Given the description of an element on the screen output the (x, y) to click on. 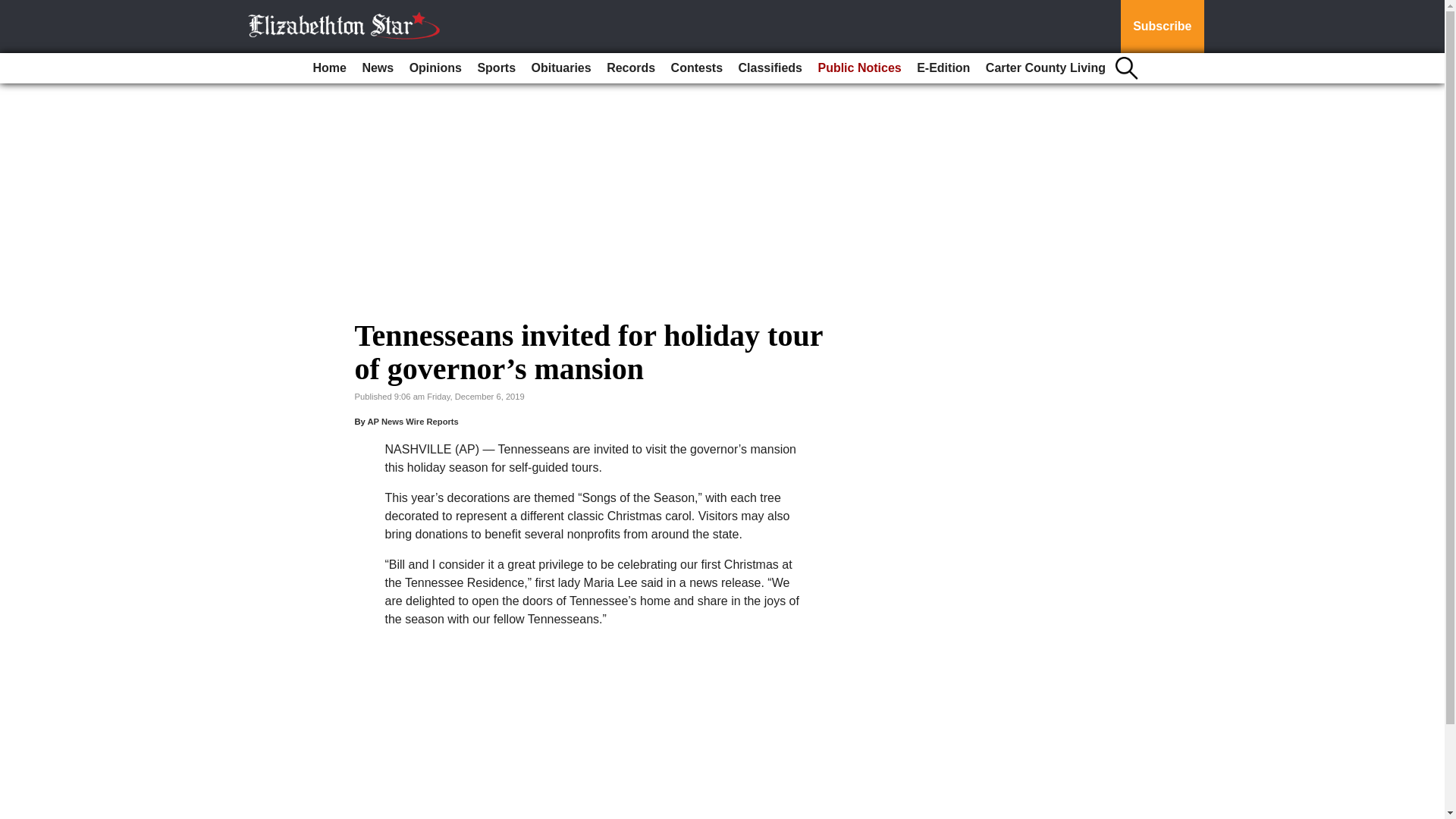
Home (328, 68)
Carter County Living (1045, 68)
Public Notices (858, 68)
Go (13, 9)
E-Edition (943, 68)
News (376, 68)
Classifieds (770, 68)
Subscribe (1162, 26)
Obituaries (560, 68)
Contests (697, 68)
Sports (495, 68)
Opinions (435, 68)
AP News Wire Reports (412, 420)
Records (630, 68)
